Given the description of an element on the screen output the (x, y) to click on. 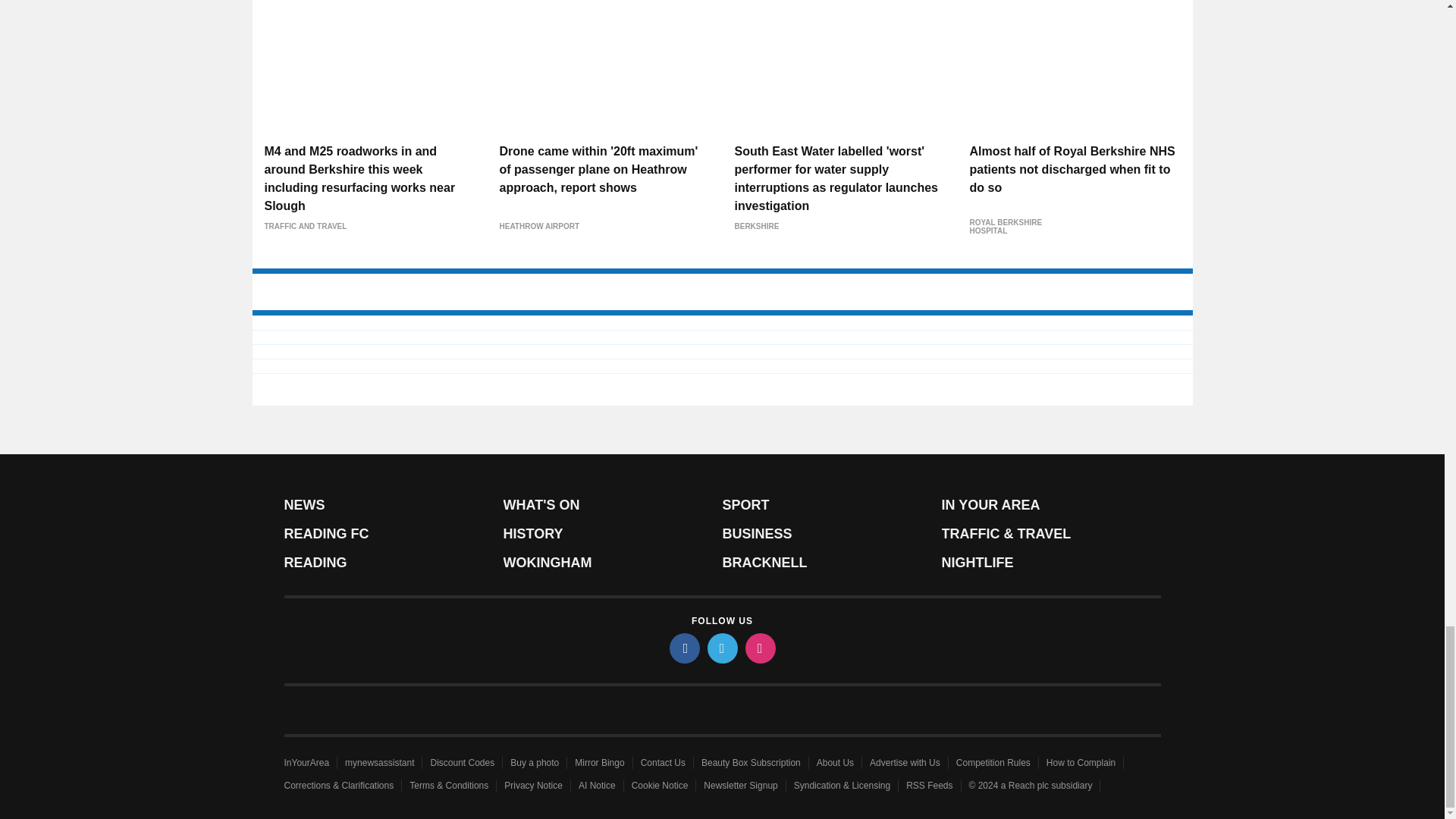
twitter (721, 648)
instagram (759, 648)
facebook (683, 648)
